Given the description of an element on the screen output the (x, y) to click on. 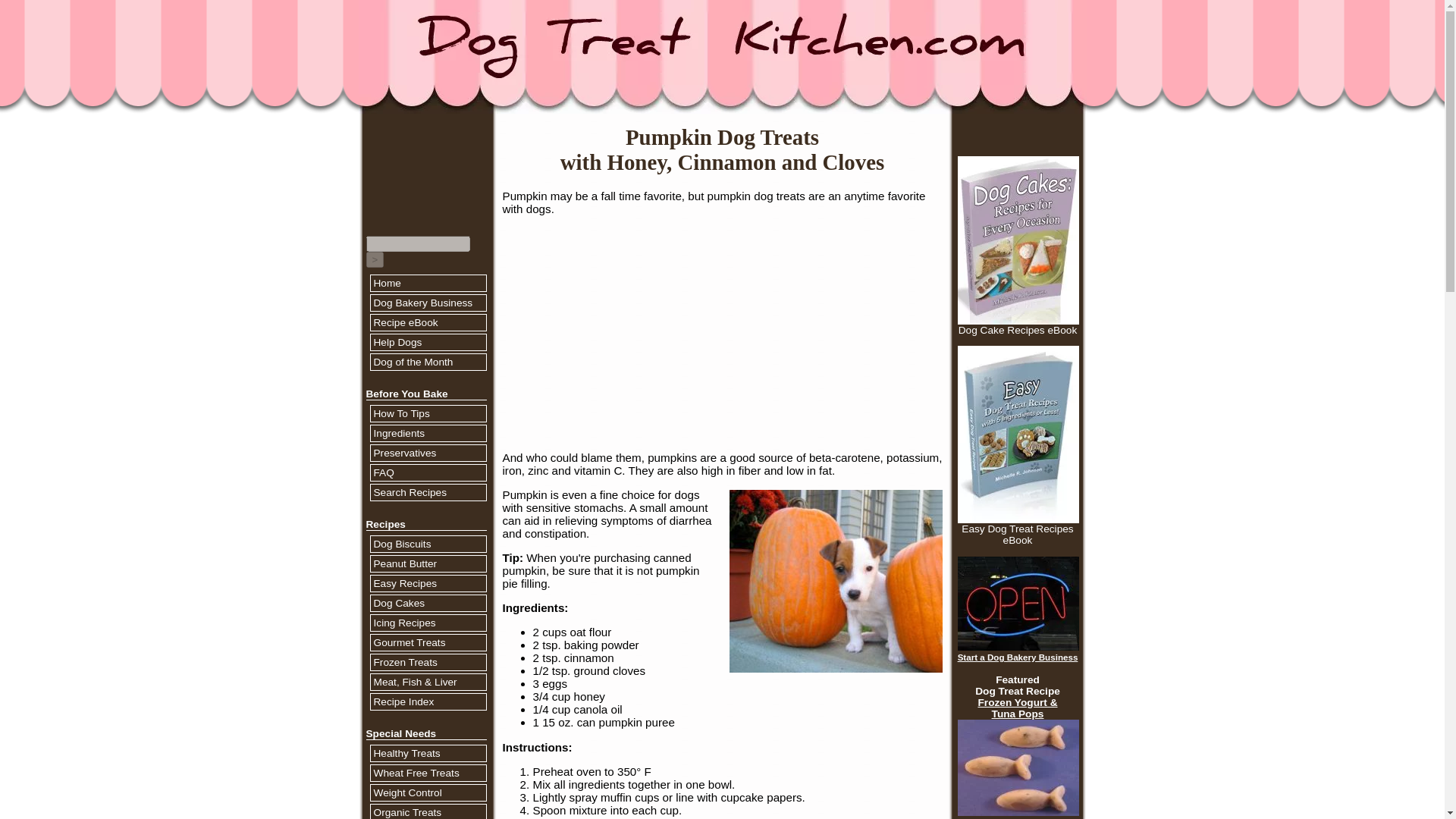
Dog Bakery Business (426, 302)
Icing Recipes (426, 622)
How To Tips (426, 413)
Dog Cakes (426, 602)
Ingredients (426, 433)
Search Recipes (426, 492)
Dog of the Month (426, 361)
Recipe eBook (426, 322)
Peanut Butter (426, 563)
FAQ (426, 472)
Easy Recipes (426, 583)
Advertisement (721, 333)
Dog Biscuits (426, 544)
Help Dogs (426, 342)
Home (426, 283)
